Given the description of an element on the screen output the (x, y) to click on. 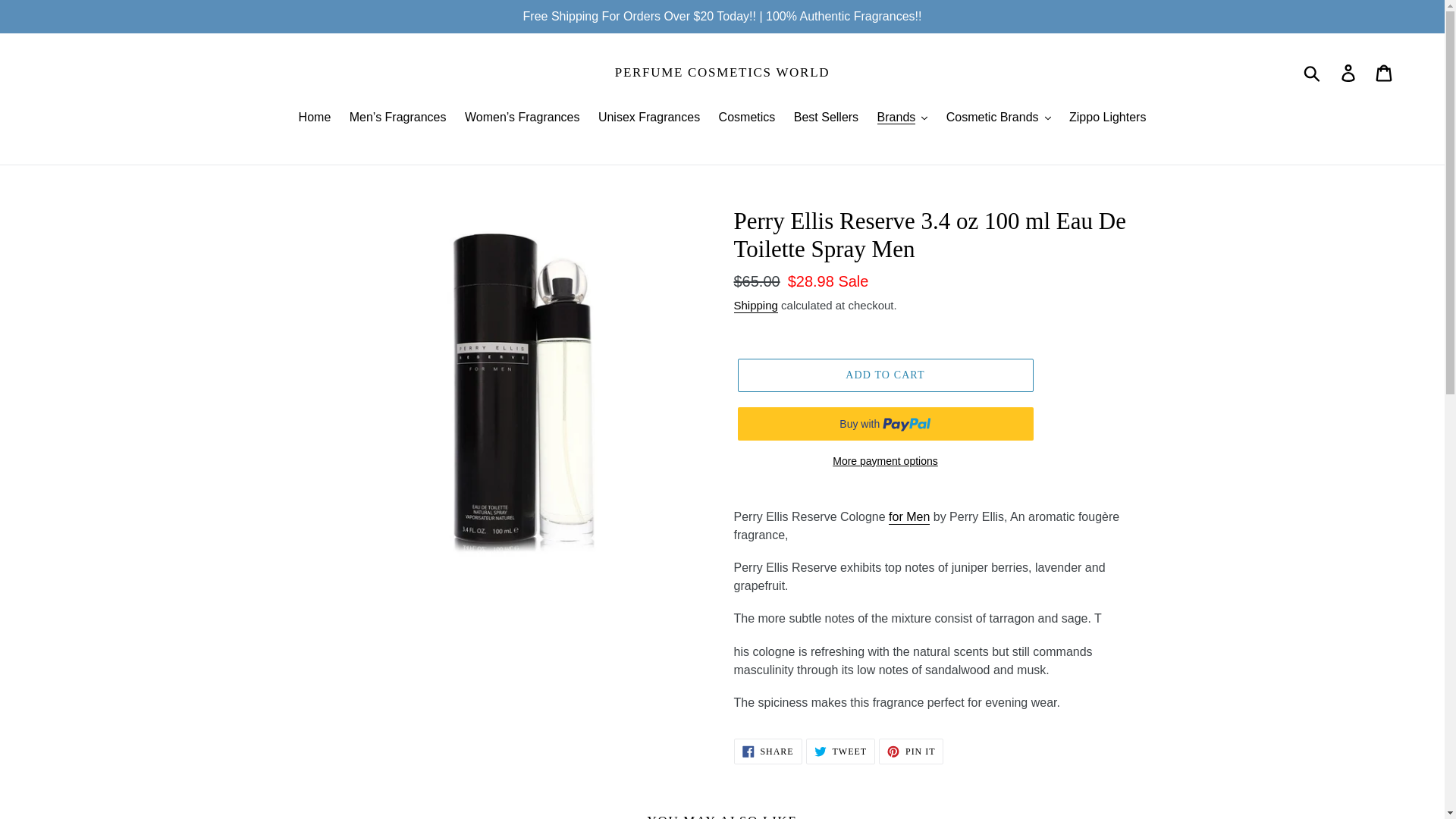
Log in (1349, 72)
for Men (909, 517)
Cart (1385, 72)
PERFUME COSMETICS WORLD (721, 72)
Submit (1313, 72)
